Given the description of an element on the screen output the (x, y) to click on. 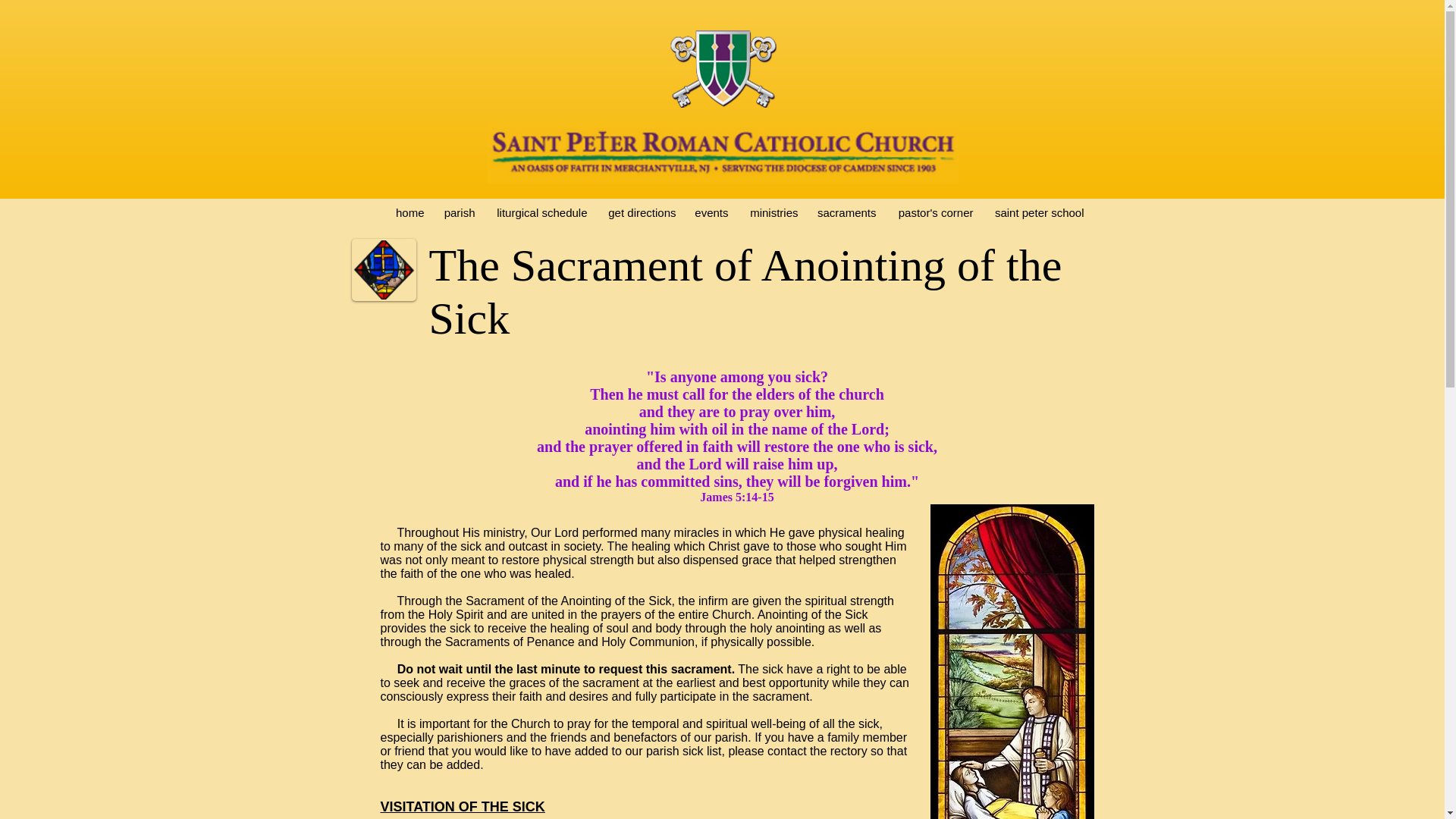
home (409, 212)
pastor's corner (933, 212)
saint peter school (1037, 212)
sacraments (845, 212)
events (711, 212)
anointing.gif (384, 270)
liturgical schedule (539, 212)
get directions (639, 212)
ministries (771, 212)
parish (458, 212)
